Given the description of an element on the screen output the (x, y) to click on. 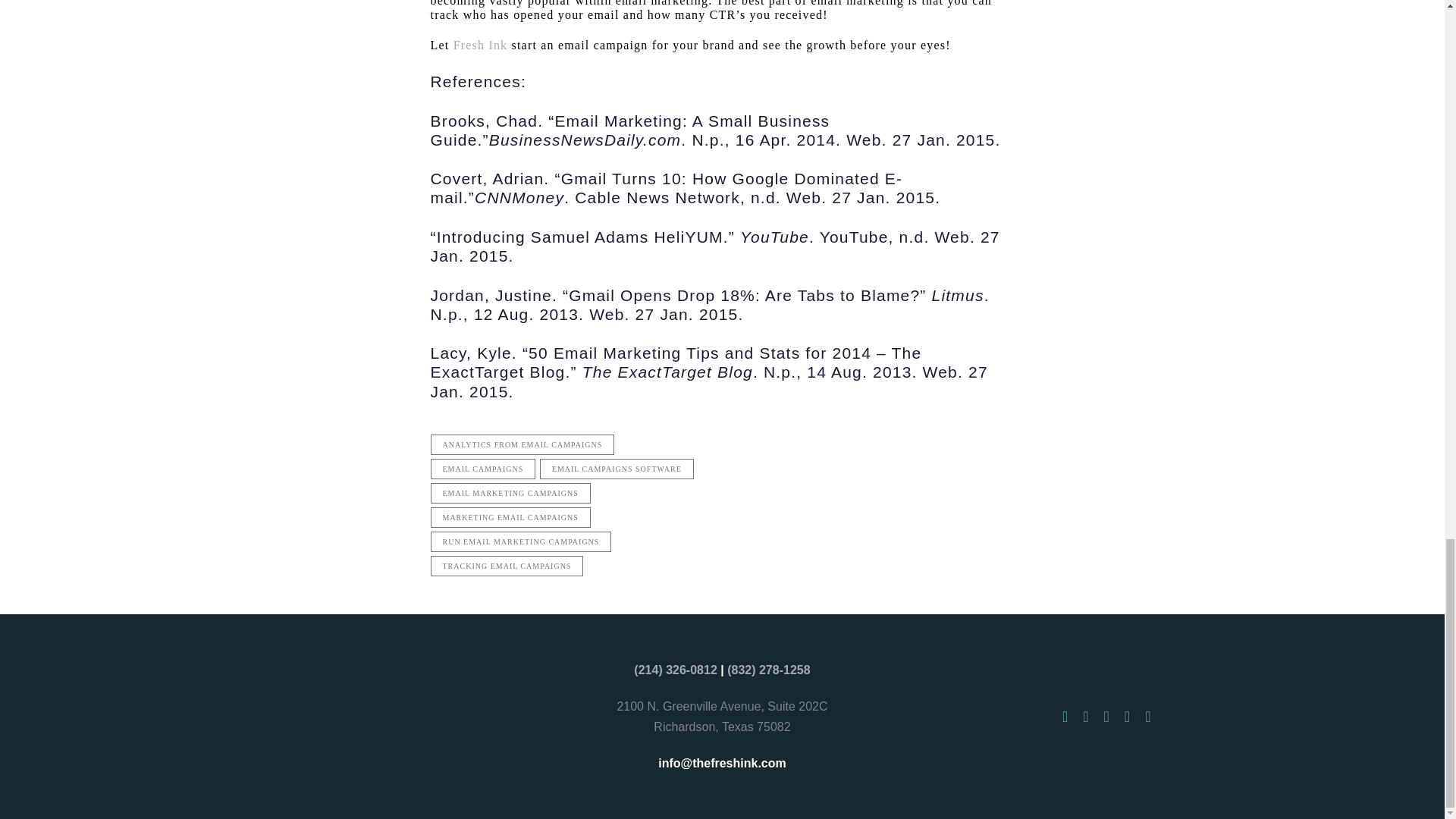
ANALYTICS FROM EMAIL CAMPAIGNS (522, 444)
RUN EMAIL MARKETING CAMPAIGNS (520, 541)
TRACKING EMAIL CAMPAIGNS (506, 566)
footer-logo (331, 716)
MARKETING EMAIL CAMPAIGNS (510, 516)
EMAIL CAMPAIGNS (482, 468)
EMAIL MARKETING CAMPAIGNS (510, 493)
Fresh Ink (480, 44)
EMAIL CAMPAIGNS SOFTWARE (617, 468)
